Given the description of an element on the screen output the (x, y) to click on. 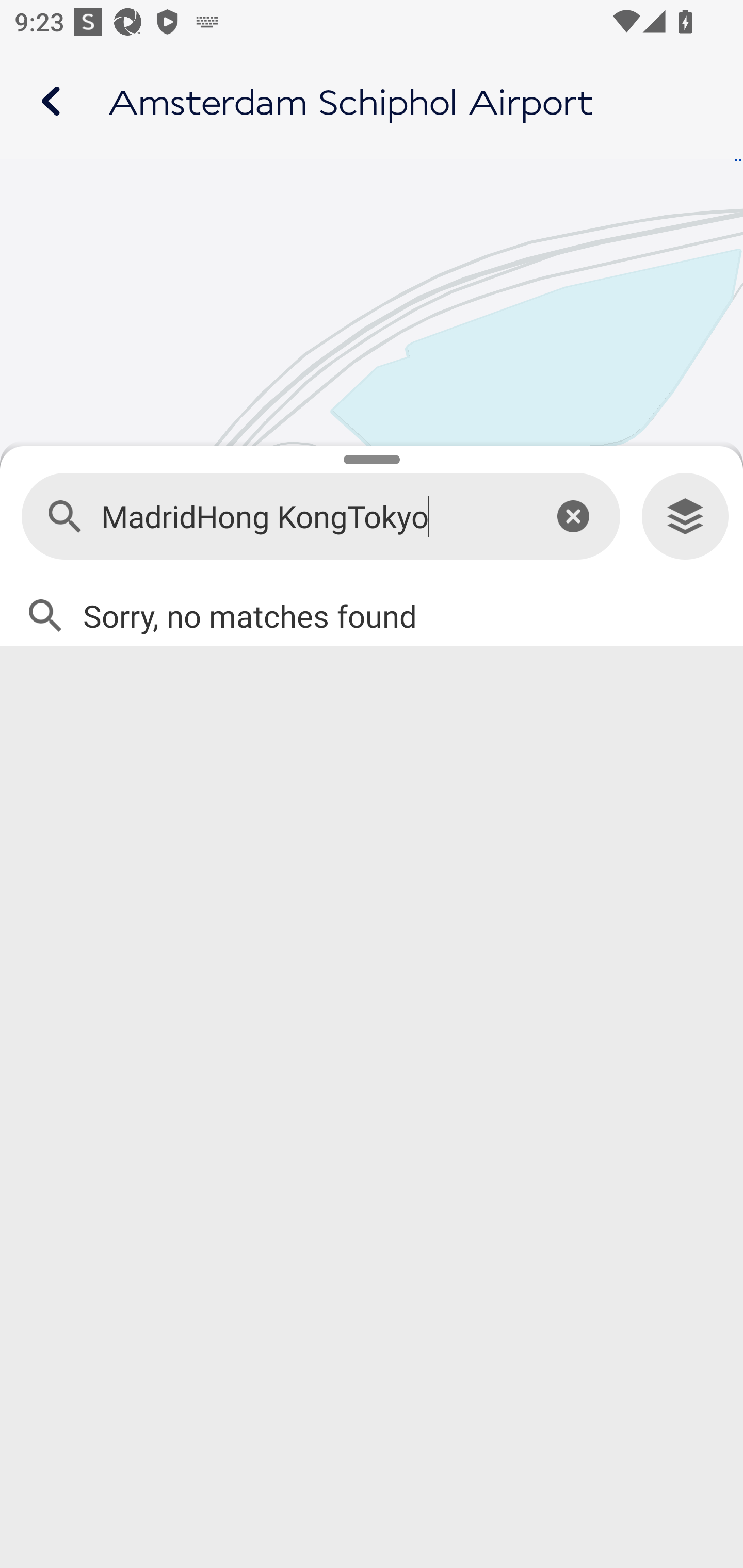
Airport map (371, 100)
MadridHong KongTokyo (311, 516)
Levels (684, 516)
This is an icon for clearing the text field. (573, 515)
